Given the description of an element on the screen output the (x, y) to click on. 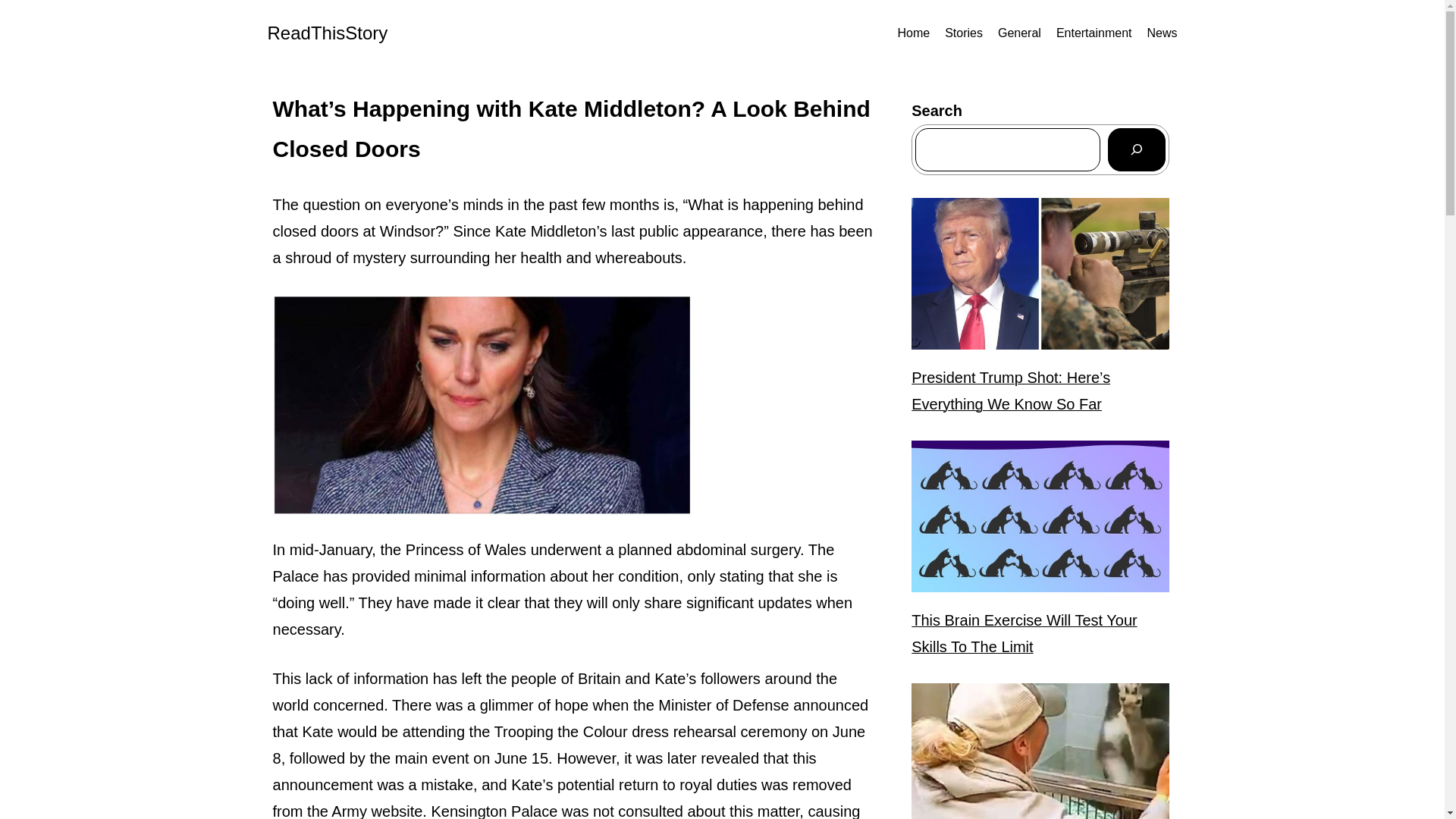
General (1019, 33)
ReadThisStory (326, 32)
News (1161, 33)
Entertainment (1094, 33)
This Brain Exercise Will Test Your Skills To The Limit (1040, 633)
Stories (963, 33)
Home (913, 33)
